Given the description of an element on the screen output the (x, y) to click on. 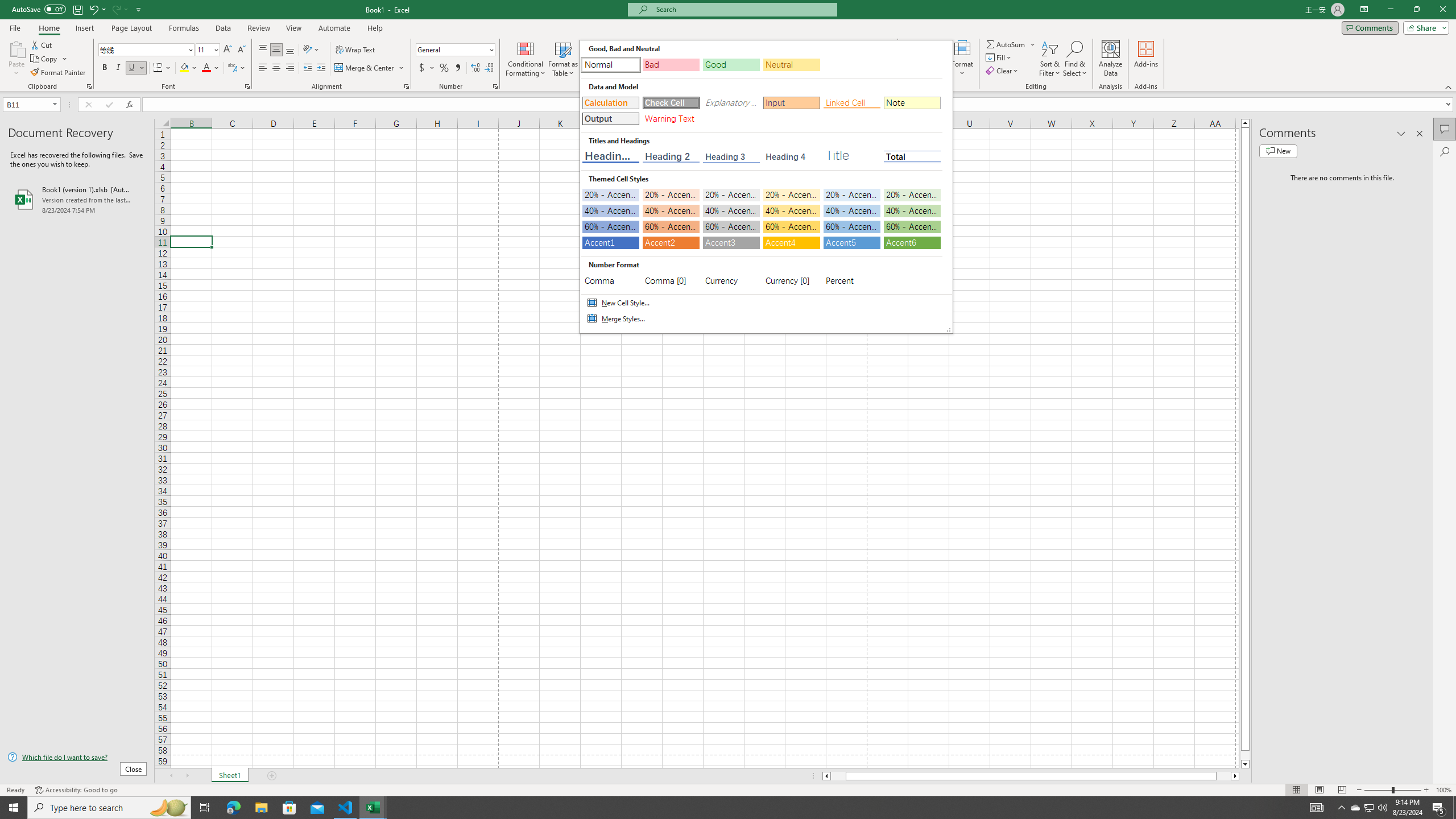
Fill Color RGB(255, 255, 0) (183, 67)
User Promoted Notification Area (1368, 807)
Font (142, 49)
Font Size (207, 49)
Number Format (455, 49)
Number Format (451, 49)
